Given the description of an element on the screen output the (x, y) to click on. 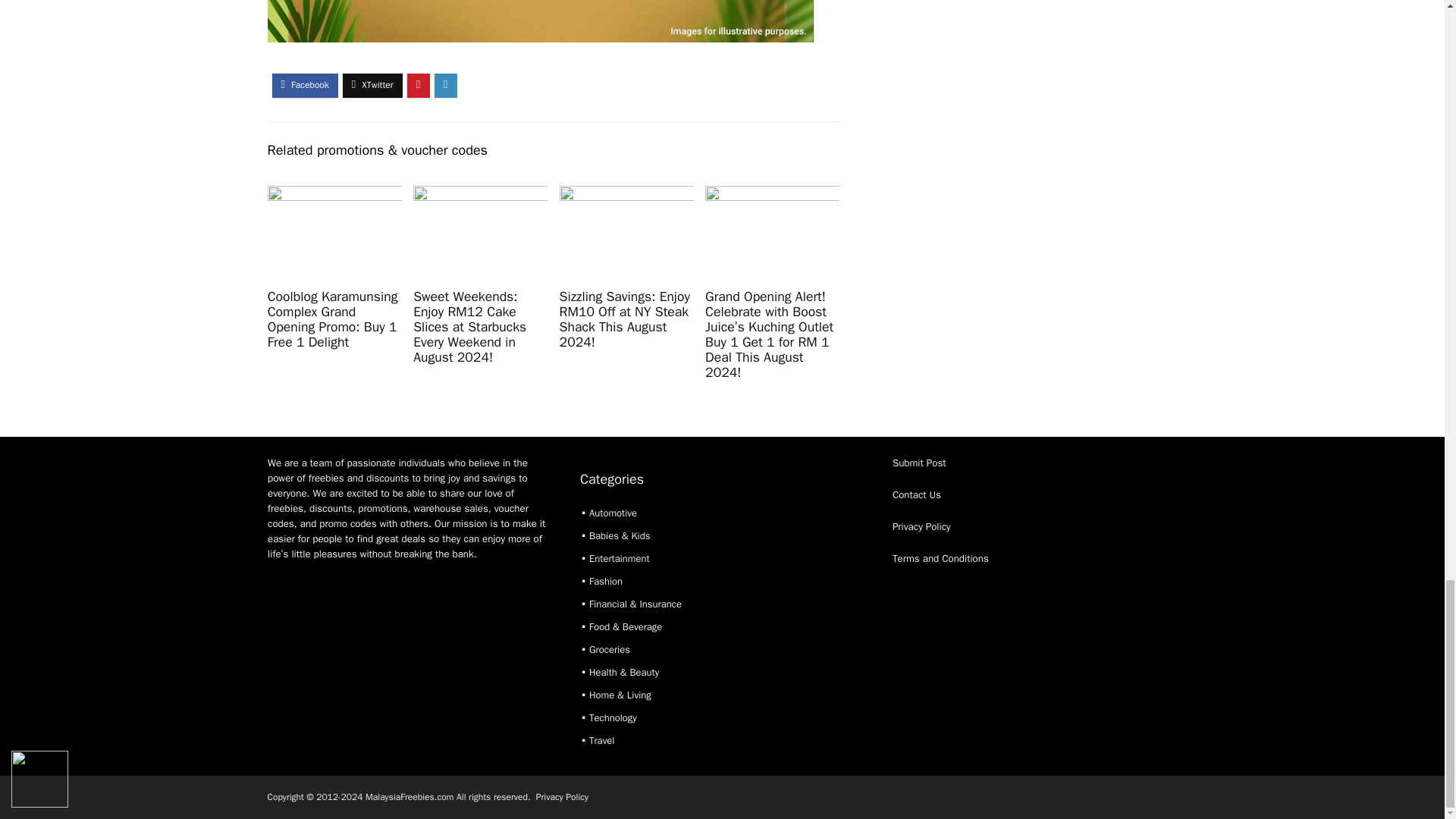
Automotive (613, 512)
